Given the description of an element on the screen output the (x, y) to click on. 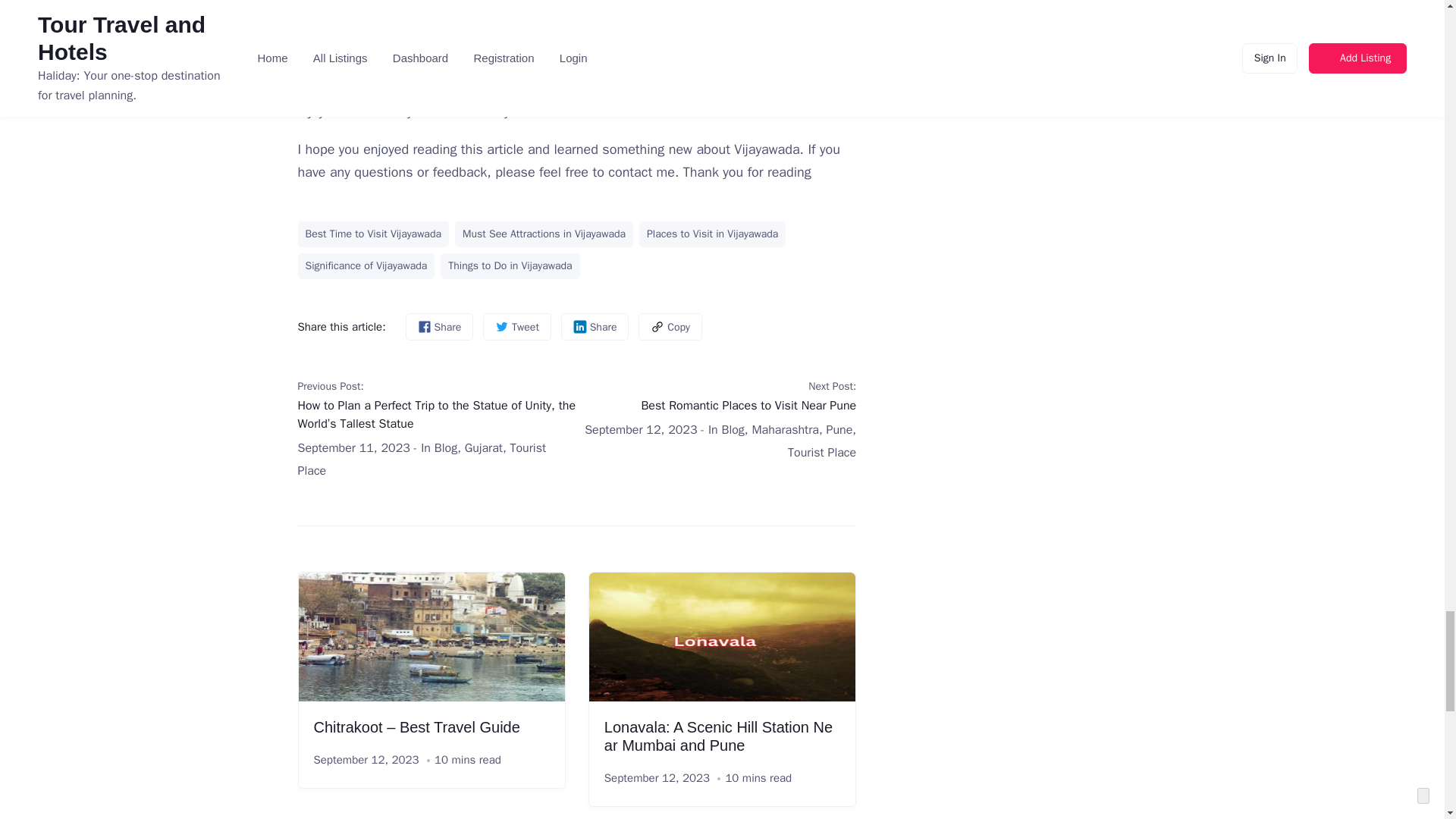
Copy to clipboard (670, 326)
Gujarat (483, 447)
Share (594, 326)
Things to Do in Vijayawada (510, 266)
Copy (670, 326)
Places to Visit in Vijayawada (712, 234)
Share (438, 326)
Tourist Place (421, 459)
Must See Attractions in Vijayawada (543, 234)
Tweet (517, 326)
Best Time to Visit Vijayawada (372, 234)
Blog (445, 447)
Significance of Vijayawada (365, 266)
